Given the description of an element on the screen output the (x, y) to click on. 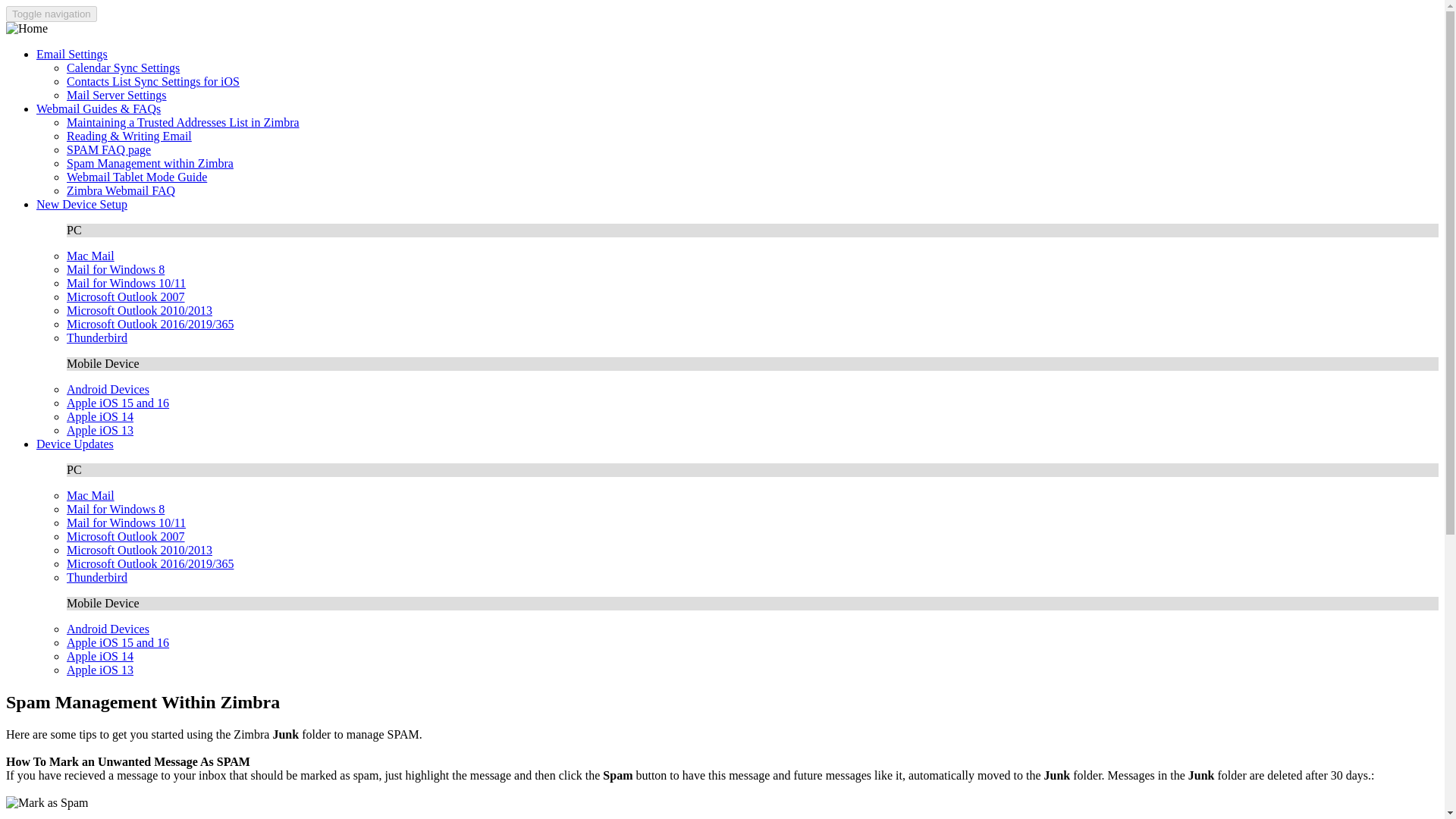
Mail Server Settings (116, 94)
Apple iOS 13 (99, 669)
Email Settings (71, 53)
Calendar Sync Settings (122, 67)
Maintaining a Trusted Addresses List in Zimbra (182, 122)
Apple iOS 15 and 16 (117, 402)
Webmail Tablet Mode Guide (136, 176)
Contacts List Sync Settings for iOS (153, 81)
Android Devices (107, 628)
Mail for Windows 8 (115, 508)
Android Devices (107, 389)
Thunderbird (97, 576)
Apple iOS 14 (99, 656)
Apple iOS 14 (99, 416)
Thunderbird (97, 337)
